Given the description of an element on the screen output the (x, y) to click on. 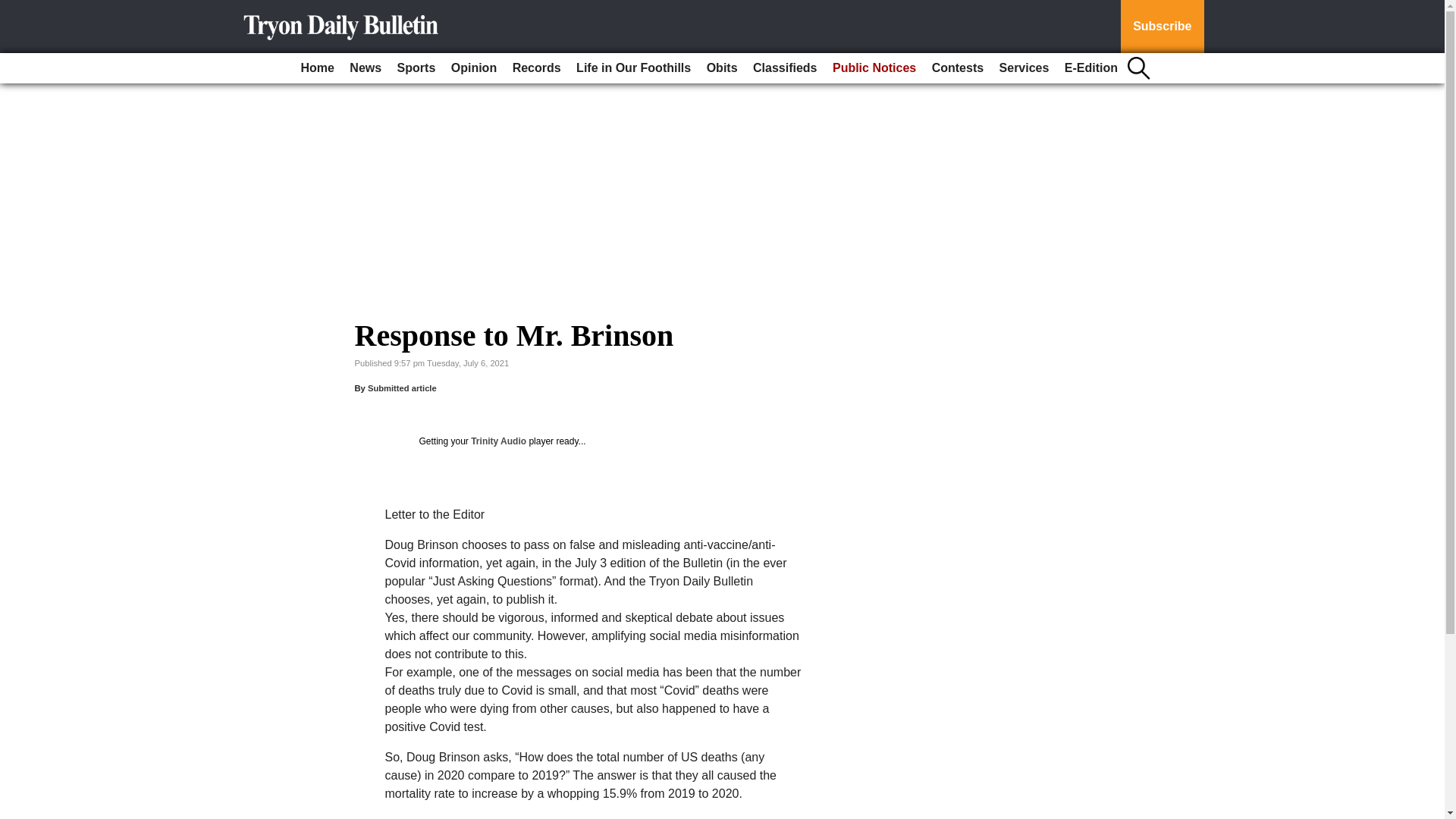
News (365, 68)
Life in Our Foothills (633, 68)
Obits (722, 68)
Sports (416, 68)
Classifieds (784, 68)
Trinity Audio (497, 440)
E-Edition (1091, 68)
Records (536, 68)
Services (1023, 68)
Submitted article (402, 388)
Contests (958, 68)
Public Notices (874, 68)
Home (316, 68)
Opinion (473, 68)
Subscribe (1162, 26)
